Given the description of an element on the screen output the (x, y) to click on. 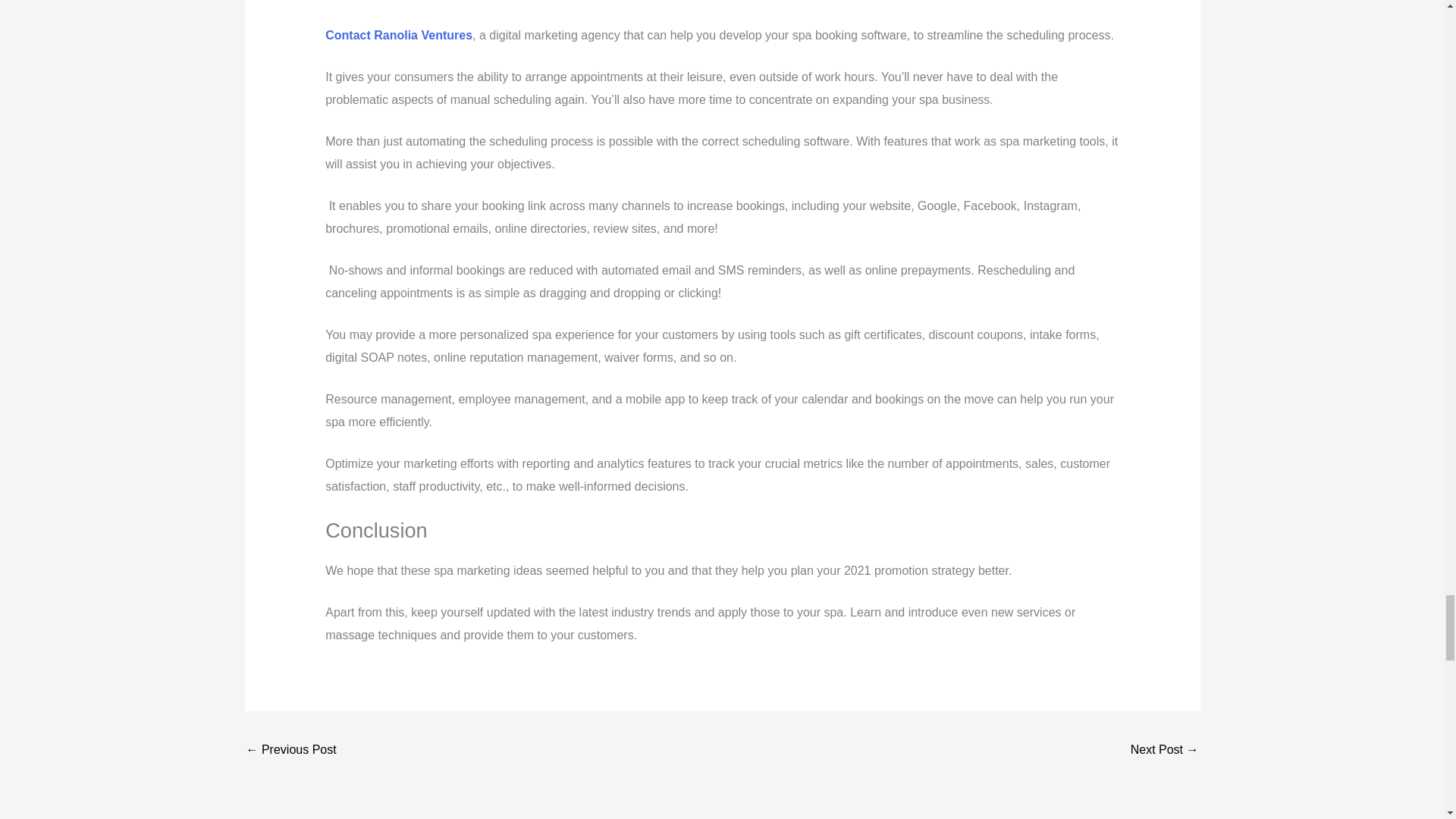
Contact Ranolia Ventures (397, 34)
11 eCommerce Marketing Strategies for My Online Store (291, 750)
10 Effective Digital Marketing Ideas For Locksmith (1164, 750)
